Given the description of an element on the screen output the (x, y) to click on. 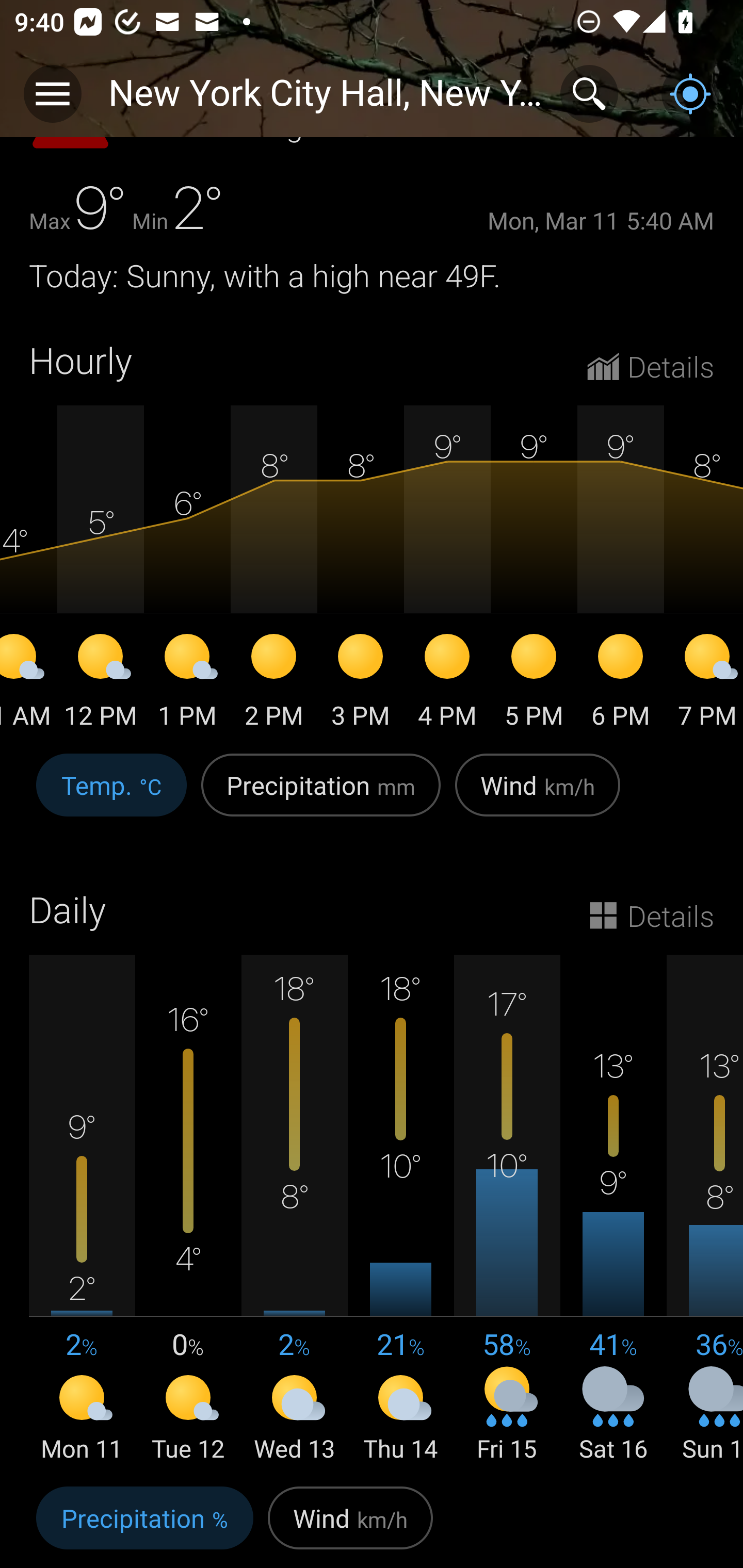
11 AM (28, 684)
12 PM (100, 684)
1 PM (187, 684)
2 PM (273, 684)
3 PM (360, 684)
4 PM (447, 684)
5 PM (533, 684)
6 PM (620, 684)
7 PM (703, 684)
Temp. °C (110, 795)
Precipitation mm (320, 795)
Wind km/h (537, 795)
9° 2° 2 % Mon 11 (81, 1209)
16° 4° 0 % Tue 12 (188, 1209)
18° 8° 2 % Wed 13 (294, 1209)
18° 10° 21 % Thu 14 (400, 1209)
17° 10° 58 % Fri 15 (506, 1209)
13° 9° 41 % Sat 16 (613, 1209)
13° 8° 36 % Sun 17 (704, 1209)
Precipitation % (144, 1523)
Wind km/h (349, 1523)
